Given the description of an element on the screen output the (x, y) to click on. 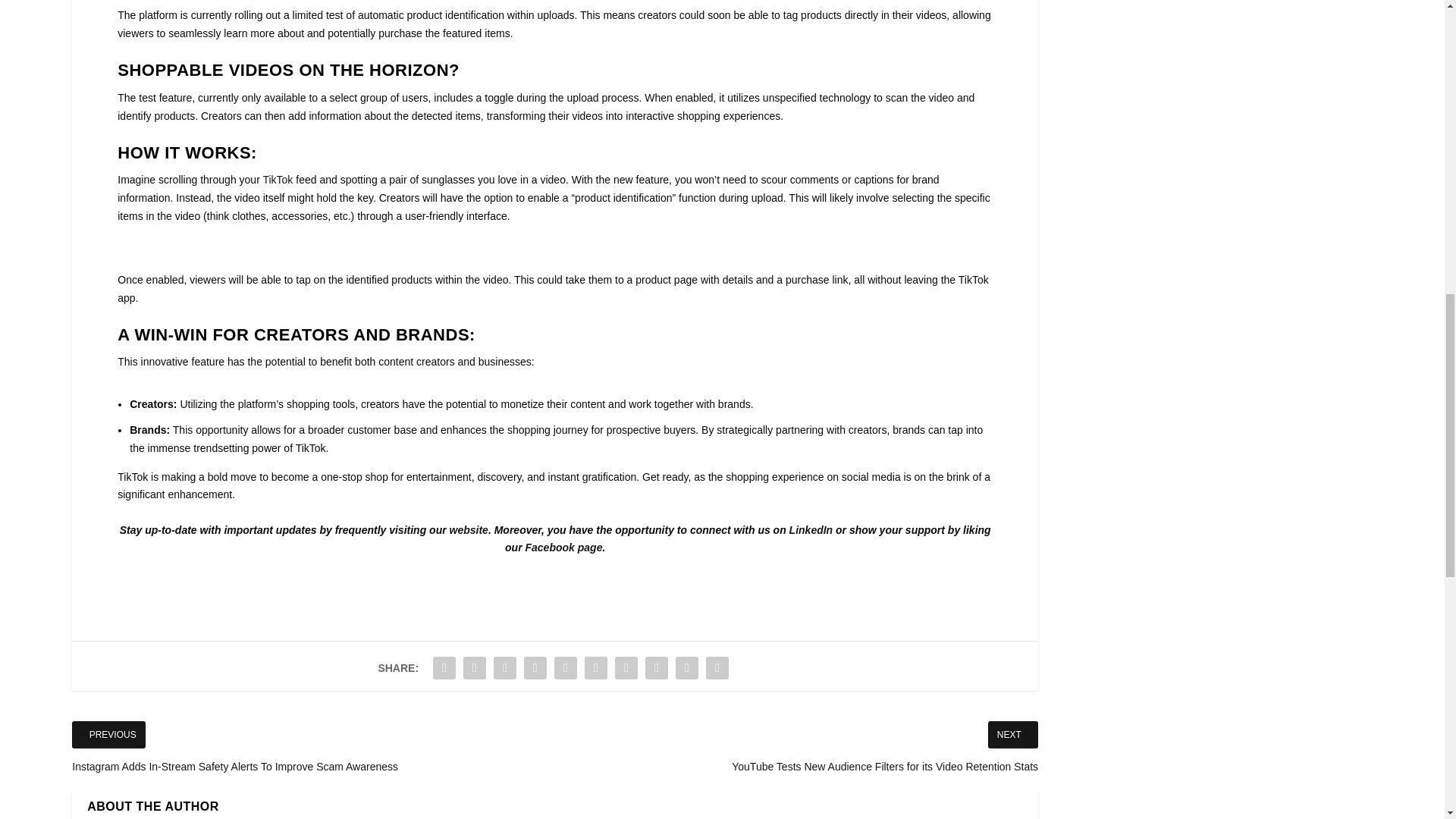
TikTok (277, 179)
website (468, 530)
Facebook page (563, 547)
LinkedIn (810, 530)
